Given the description of an element on the screen output the (x, y) to click on. 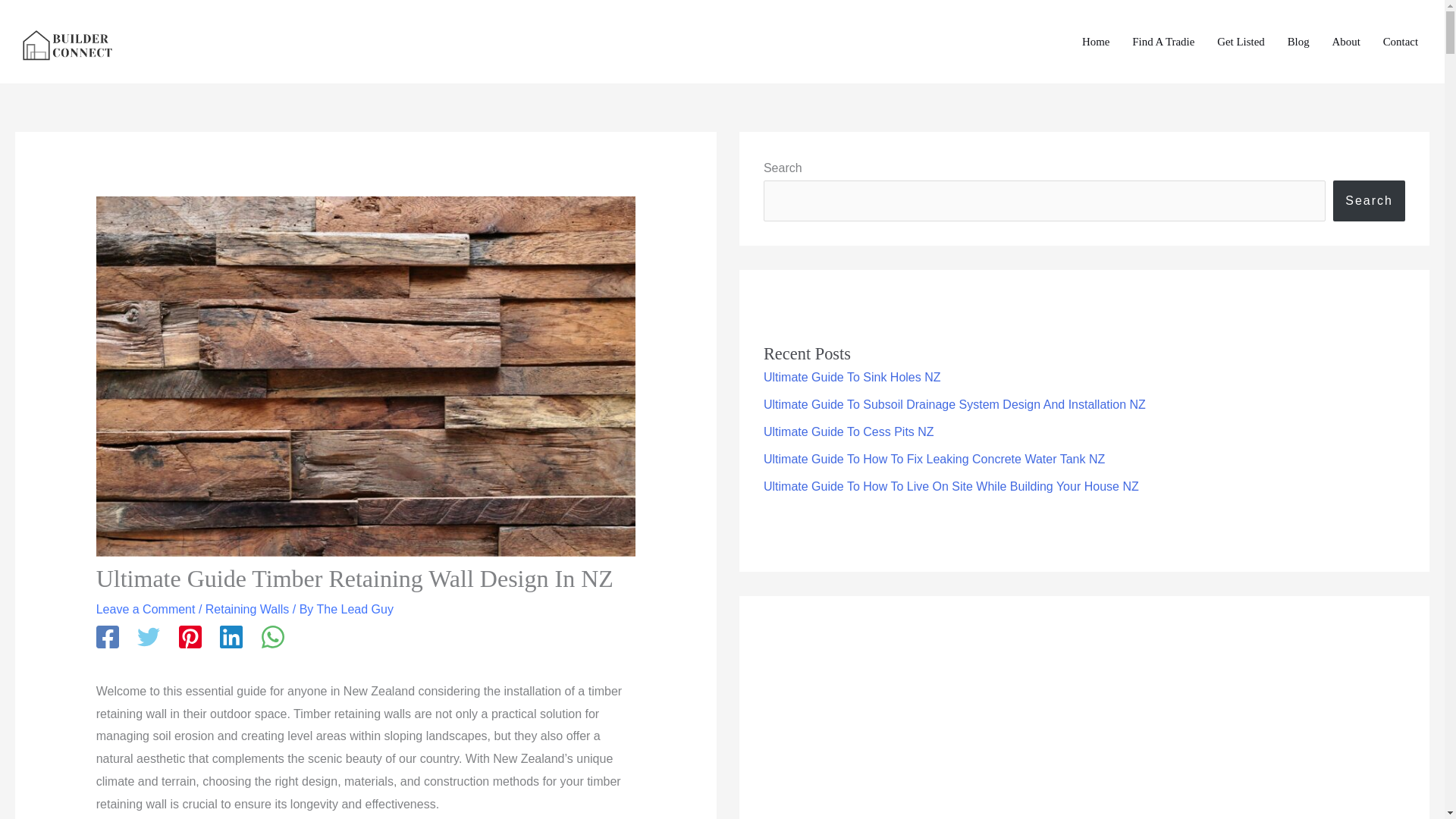
Leave a Comment (145, 608)
The Lead Guy (355, 608)
Find A Tradie (1163, 41)
Retaining Walls (247, 608)
View all posts by The Lead Guy (355, 608)
